Given the description of an element on the screen output the (x, y) to click on. 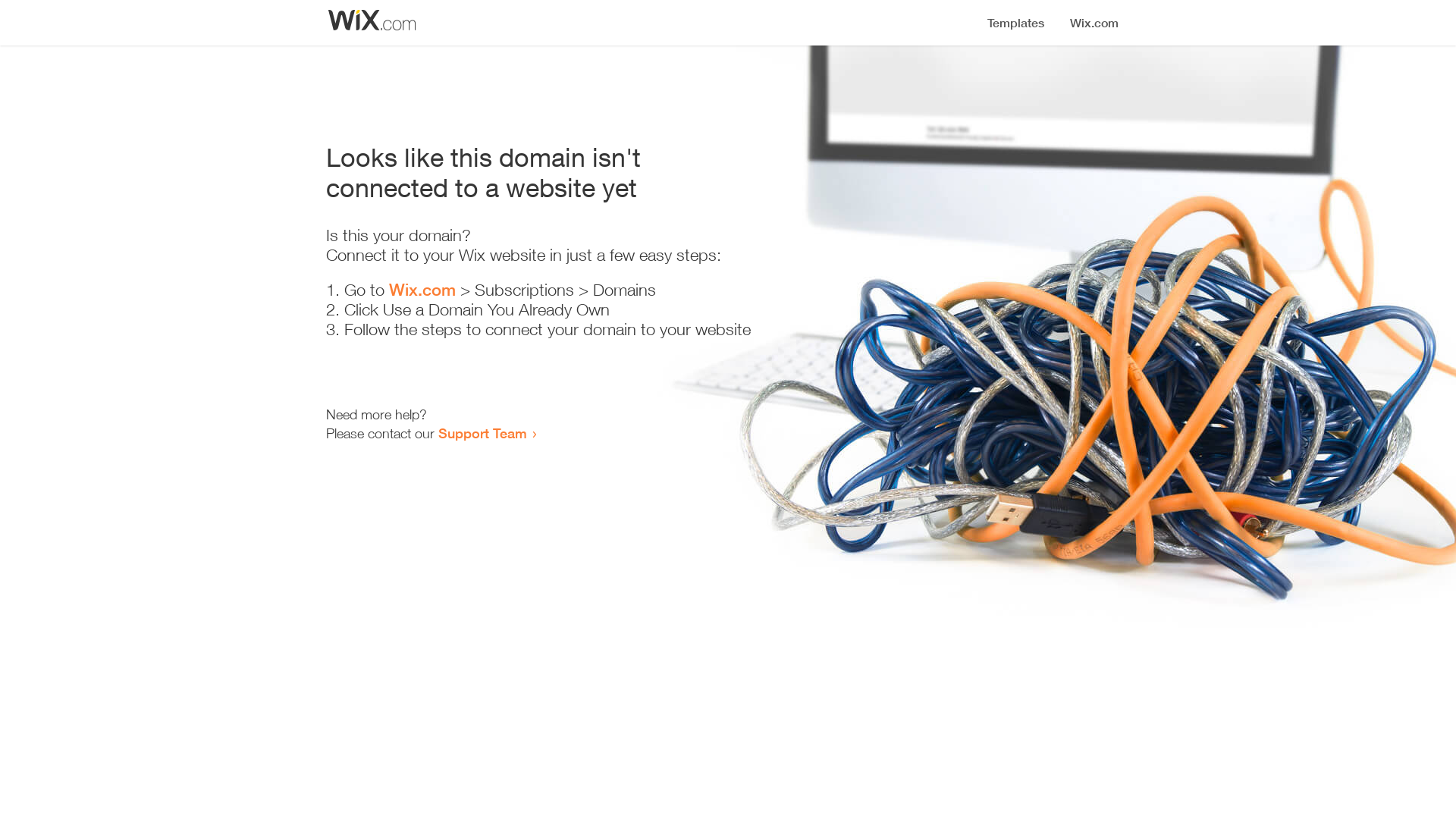
Wix.com Element type: text (422, 289)
Support Team Element type: text (482, 432)
